Given the description of an element on the screen output the (x, y) to click on. 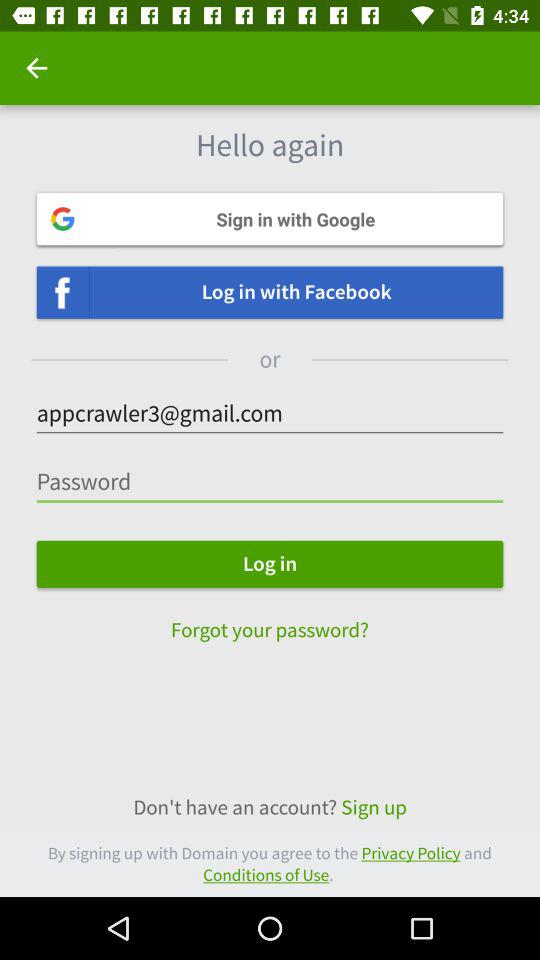
enter password (269, 482)
